Given the description of an element on the screen output the (x, y) to click on. 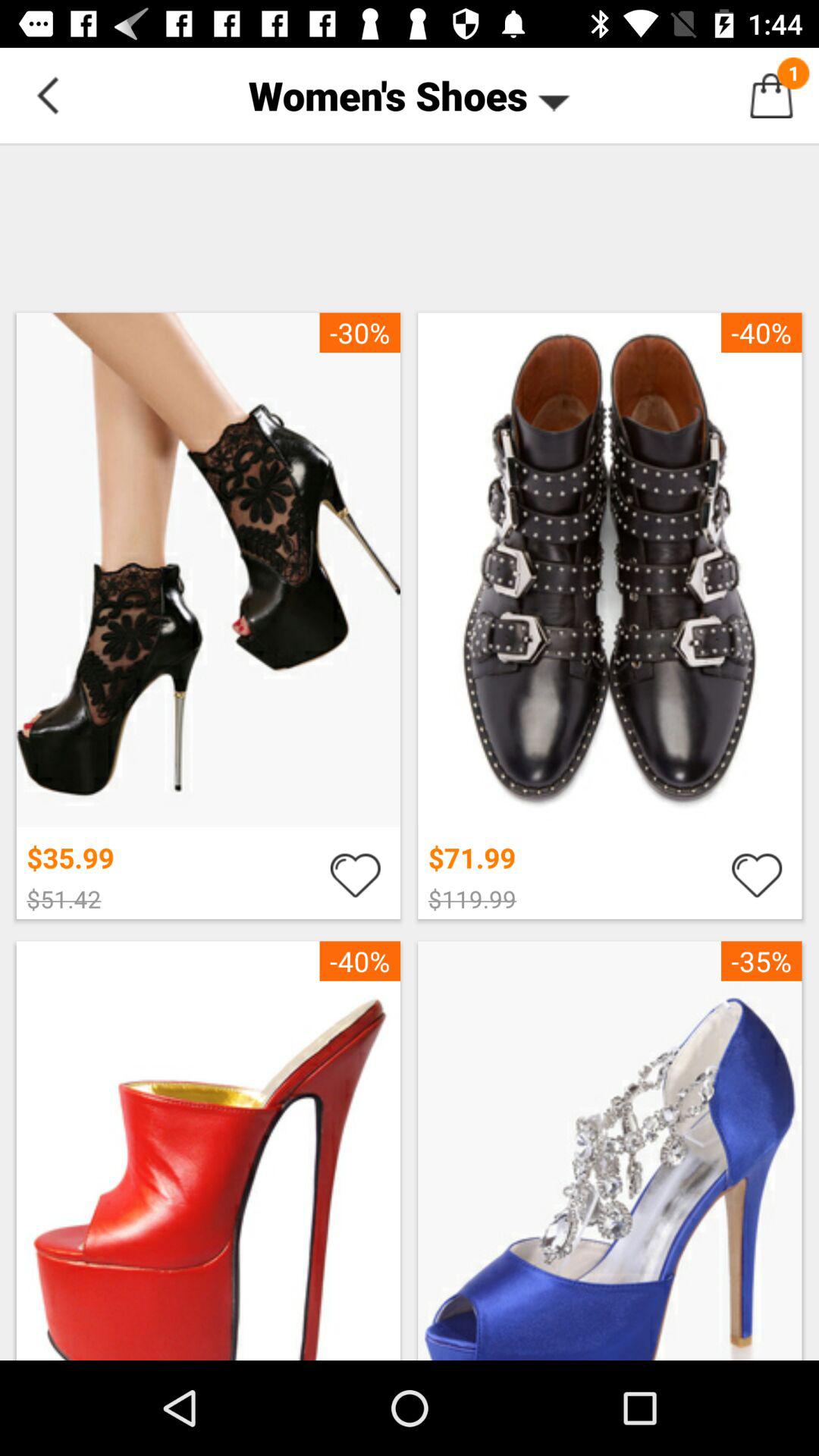
choose button next to the women's shoes item (47, 95)
